Given the description of an element on the screen output the (x, y) to click on. 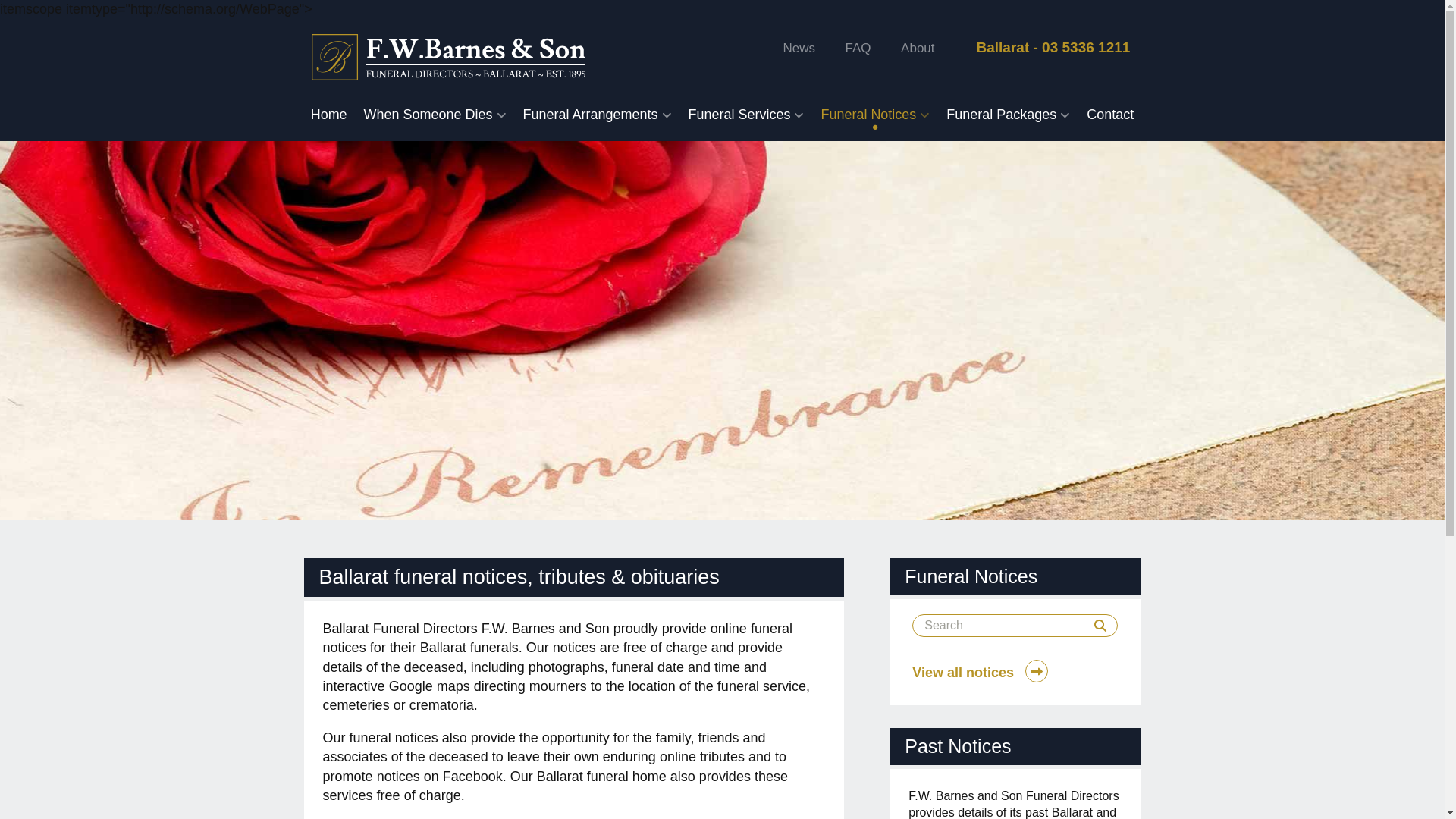
Home Element type: text (328, 114)
News Element type: text (799, 48)
03 5336 1211 Element type: text (1085, 47)
Contact Element type: text (1109, 114)
FAQ Element type: text (858, 48)
About Element type: text (917, 48)
Funeral Arrangements Element type: text (597, 114)
Funeral Notices Element type: text (874, 114)
View all notices Element type: text (1014, 670)
When Someone Dies Element type: text (435, 114)
Funeral Packages Element type: text (1008, 114)
Funeral Services Element type: text (745, 114)
Search for: Element type: hover (1014, 625)
